Given the description of an element on the screen output the (x, y) to click on. 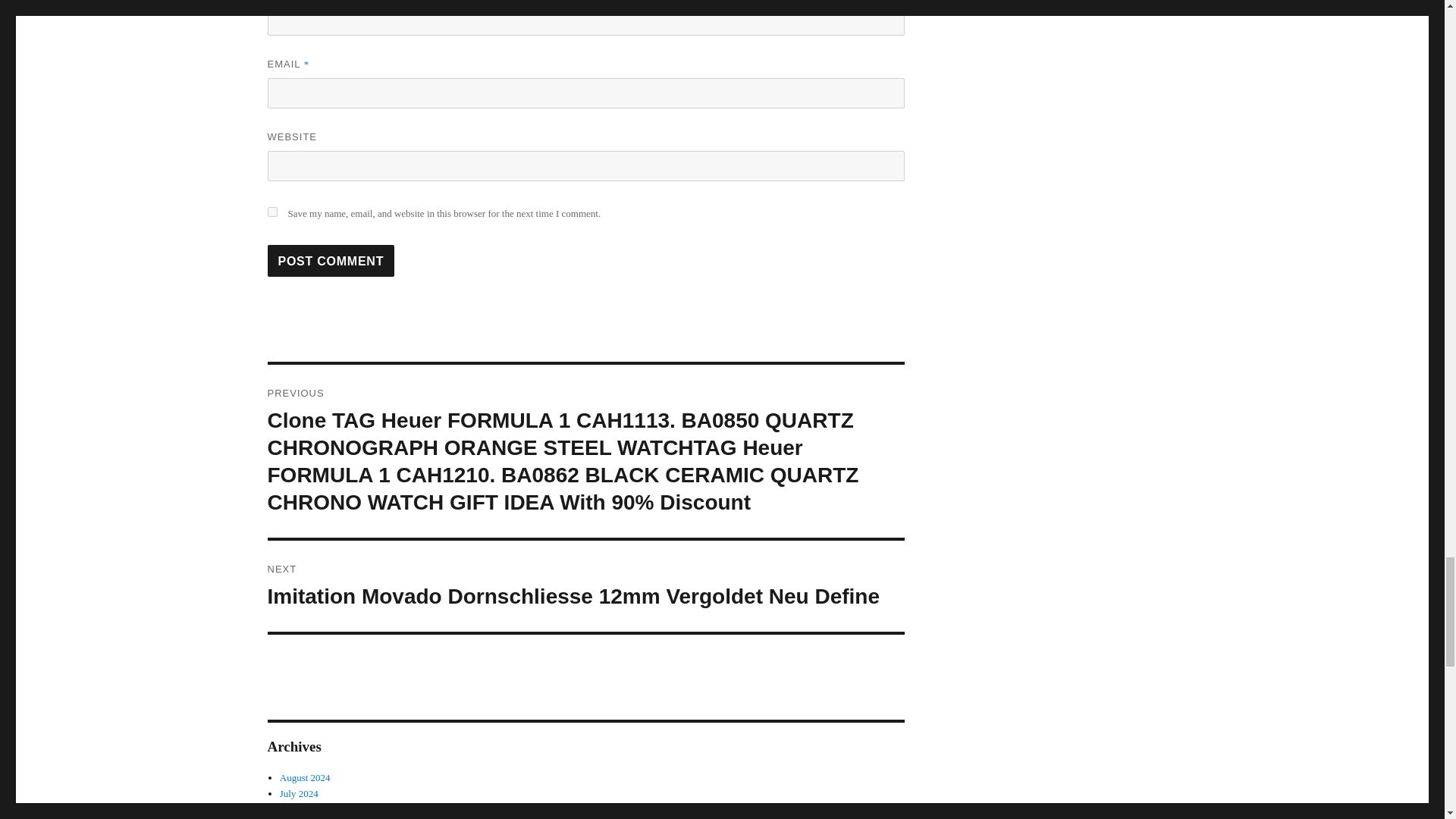
Post Comment (330, 260)
June 2024 (299, 808)
yes (271, 212)
August 2024 (304, 777)
Post Comment (330, 260)
July 2024 (298, 793)
